Given the description of an element on the screen output the (x, y) to click on. 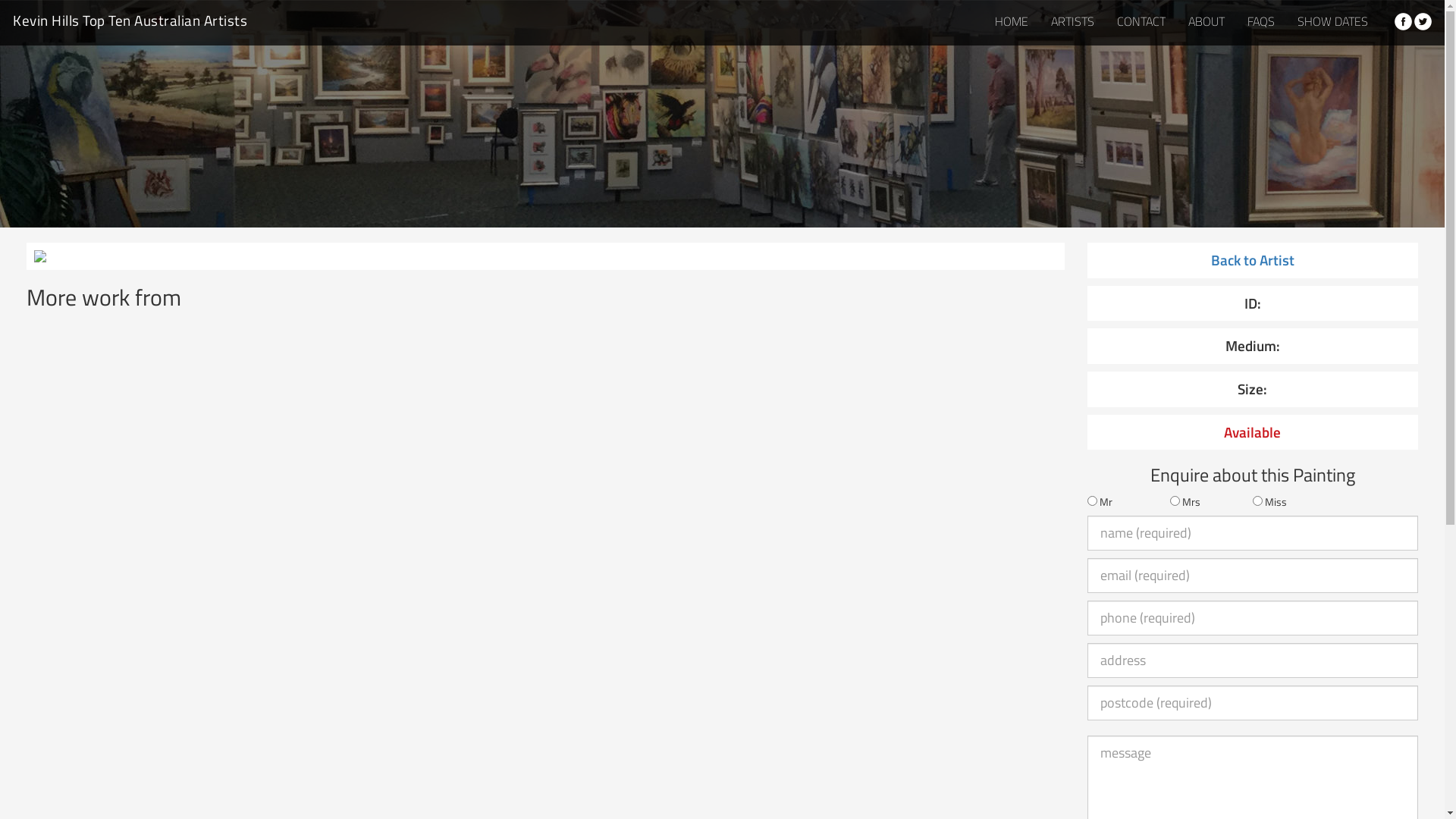
FAQS Element type: text (1261, 21)
CONTACT Element type: text (1140, 21)
Kevin Hills Top Ten Australian Artists Element type: text (130, 18)
ABOUT Element type: text (1206, 21)
Back to Artist Element type: text (1252, 259)
HOME Element type: text (1011, 21)
ARTISTS Element type: text (1072, 21)
SHOW DATES Element type: text (1332, 21)
